Given the description of an element on the screen output the (x, y) to click on. 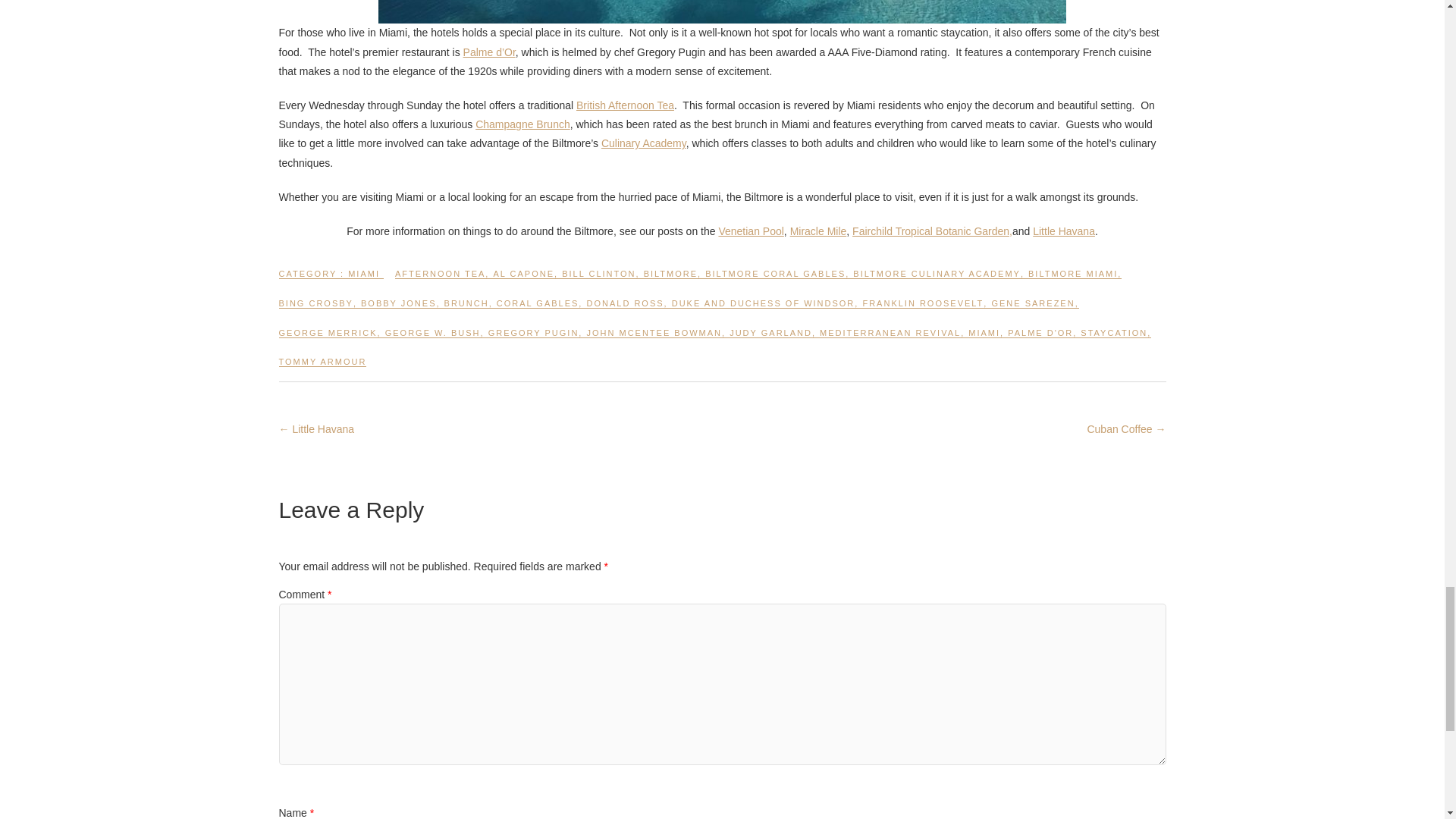
Champagne Brunch (523, 123)
CORAL GABLES (537, 309)
BING CROSBY (316, 309)
BILTMORE CORAL GABLES (774, 279)
AL CAPONE (523, 279)
GEORGE W. BUSH (432, 338)
Little Havana (1063, 231)
BRUNCH (466, 309)
GREGORY PUGIN (533, 338)
DONALD ROSS (624, 309)
BILL CLINTON (598, 279)
GENE SAREZEN (1032, 309)
Venetian Pool (750, 231)
MEDITERRANEAN REVIVAL (889, 338)
BILTMORE MIAMI (1072, 279)
